Given the description of an element on the screen output the (x, y) to click on. 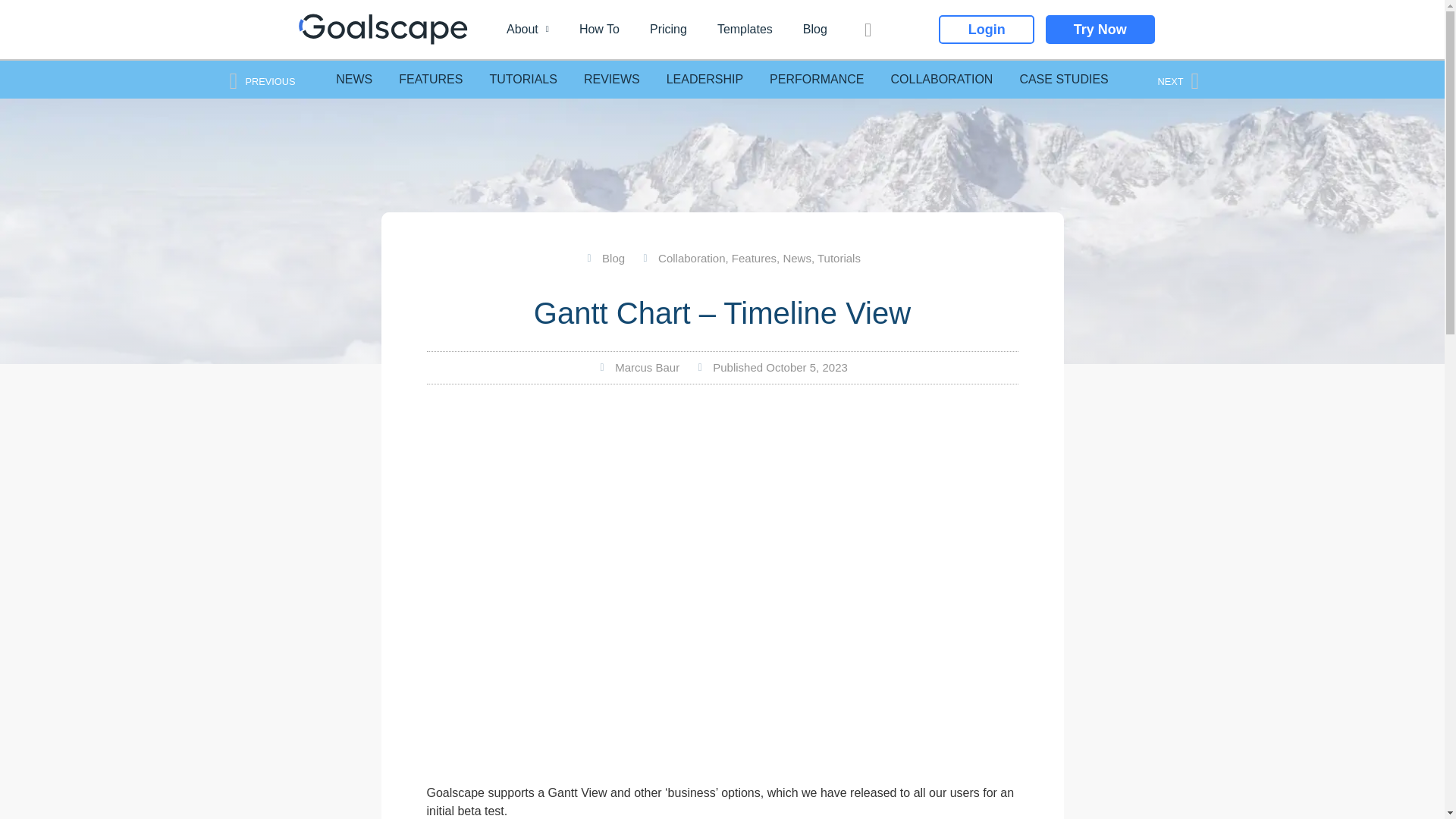
Try Now (1099, 29)
Blog (814, 29)
Login (986, 29)
About (528, 29)
Templates (744, 29)
How To (598, 29)
Pricing (667, 29)
